Given the description of an element on the screen output the (x, y) to click on. 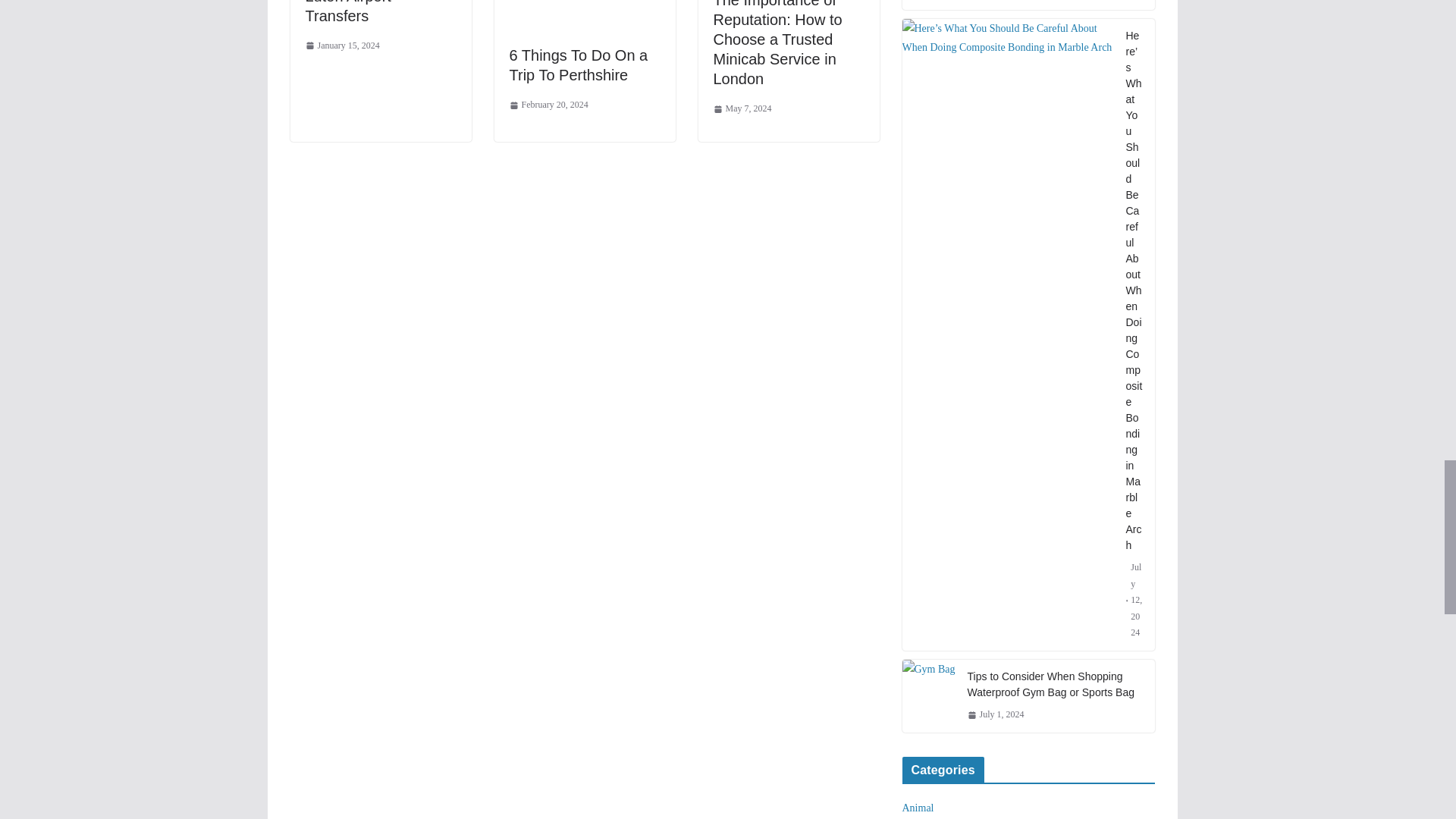
7:35 am (341, 45)
January 15, 2024 (341, 45)
February 20, 2024 (548, 105)
10:49 am (548, 105)
6 Things To Do On a Trip To Perthshire (578, 64)
6 Things To Do On a Trip To Perthshire (578, 64)
May 7, 2024 (742, 108)
